Given the description of an element on the screen output the (x, y) to click on. 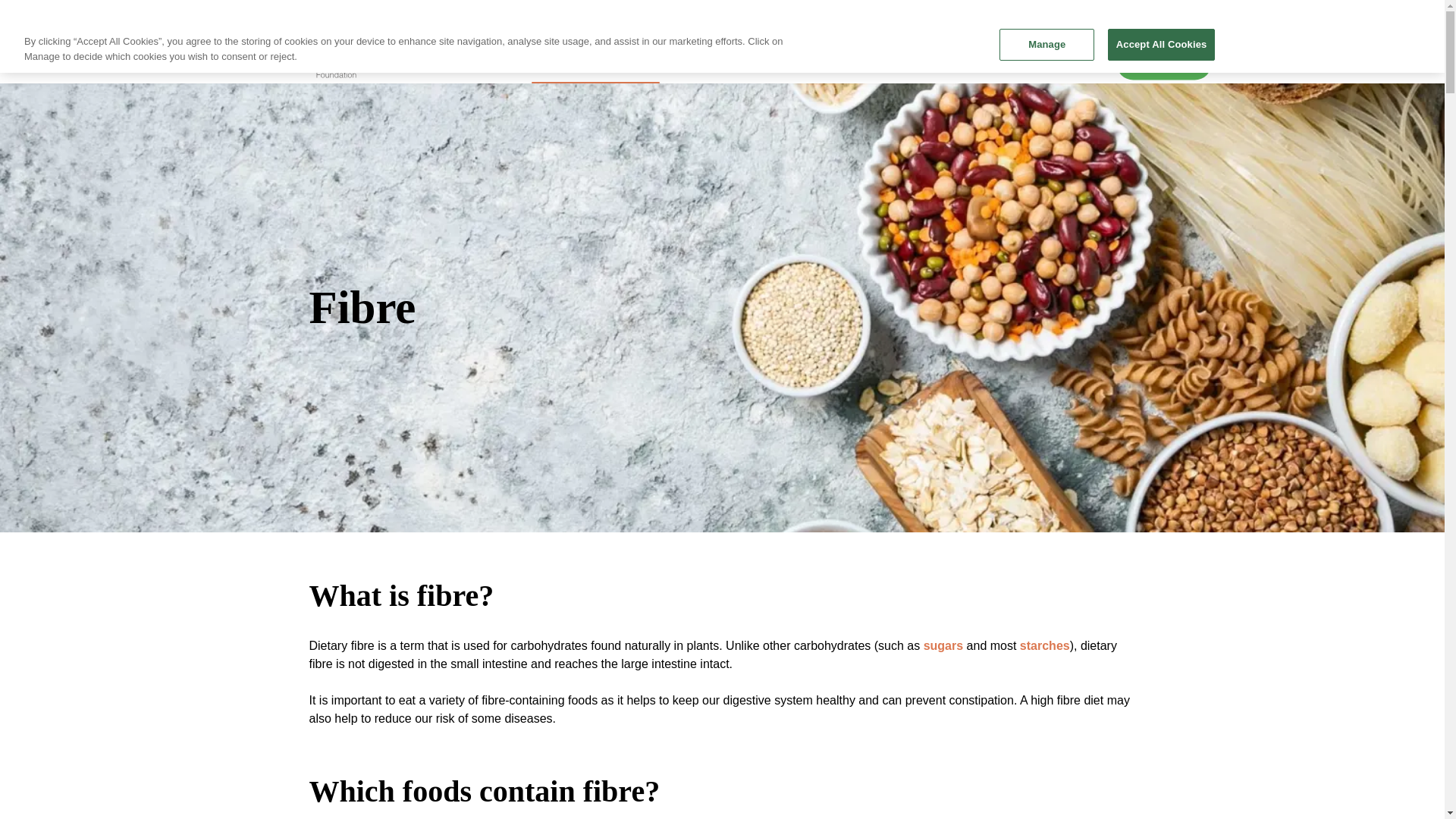
British Nutrition Foundation (300, 63)
Nutrition for... (733, 62)
Sugar (942, 645)
Nutritional Information (591, 62)
Starchy Foods (1045, 645)
Health Conditions (860, 62)
Creating a Healthy Diet (1010, 62)
